Given the description of an element on the screen output the (x, y) to click on. 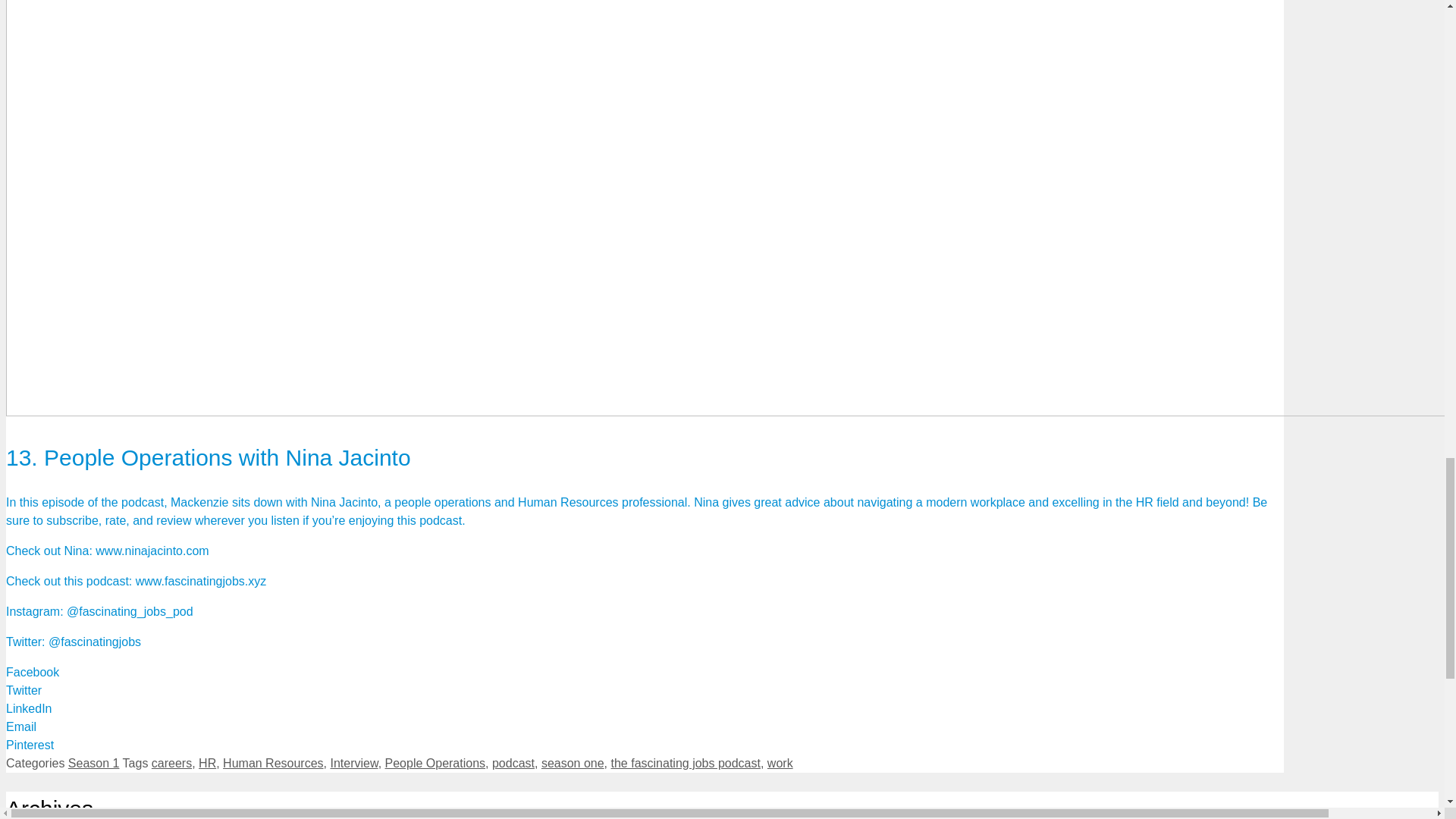
the fascinating jobs podcast (685, 762)
season one (572, 762)
Human Resources (272, 762)
Season 1 (93, 762)
Interview (353, 762)
work (780, 762)
careers (171, 762)
HR (206, 762)
podcast (513, 762)
People Operations (435, 762)
